Given the description of an element on the screen output the (x, y) to click on. 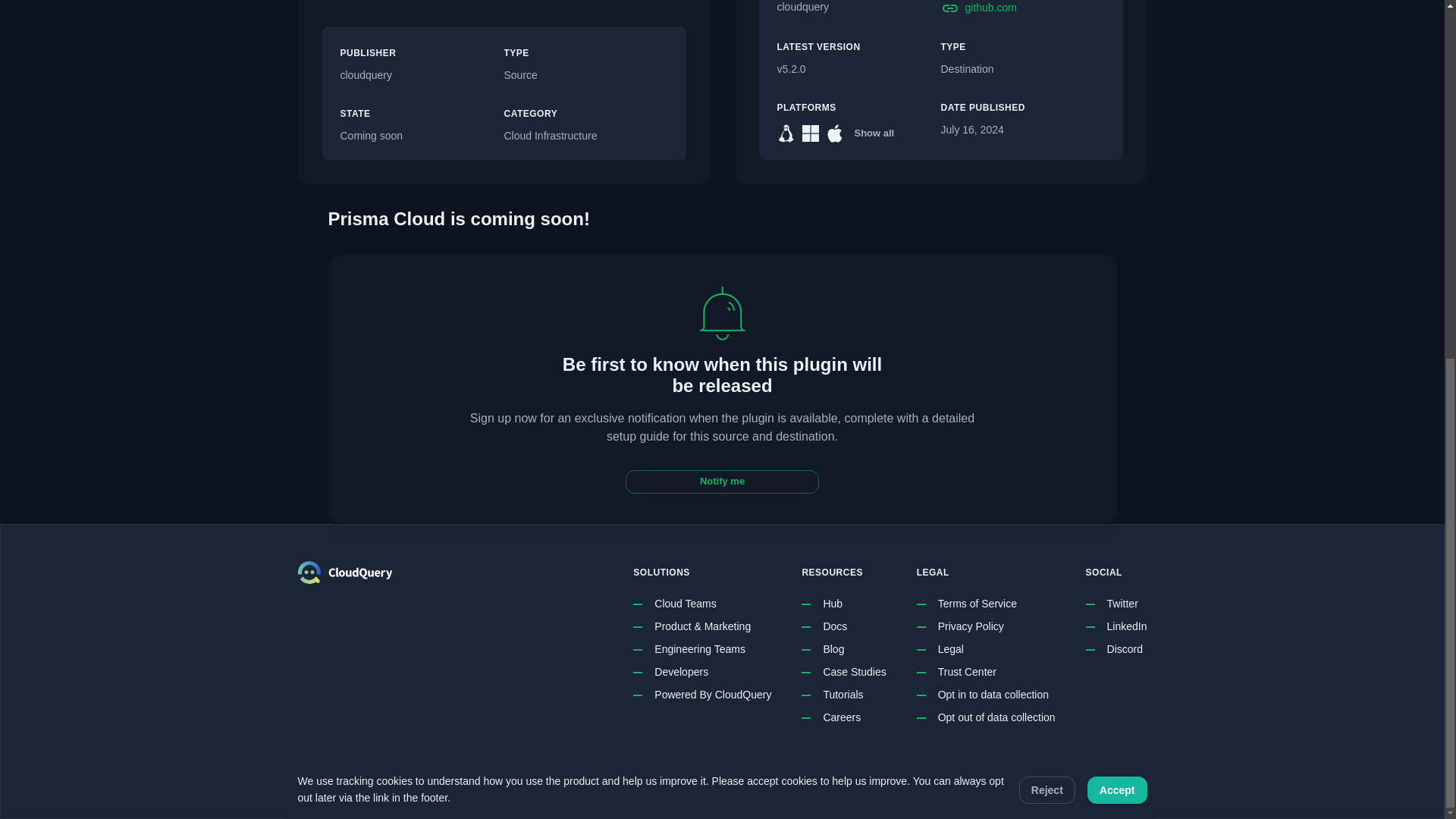
Opt in to data collection (992, 695)
Cloud Infrastructure (584, 135)
Show all (873, 133)
Accept (1117, 156)
Case Studies (853, 672)
LinkedIn (1126, 627)
Discord (1124, 649)
Cloud Teams (684, 604)
Notify me (722, 481)
v5.2.0 (858, 69)
Powered By CloudQuery (712, 695)
Trust Center (966, 672)
Opt out of data collection (996, 718)
Developers (680, 672)
Terms of Service (976, 604)
